Given the description of an element on the screen output the (x, y) to click on. 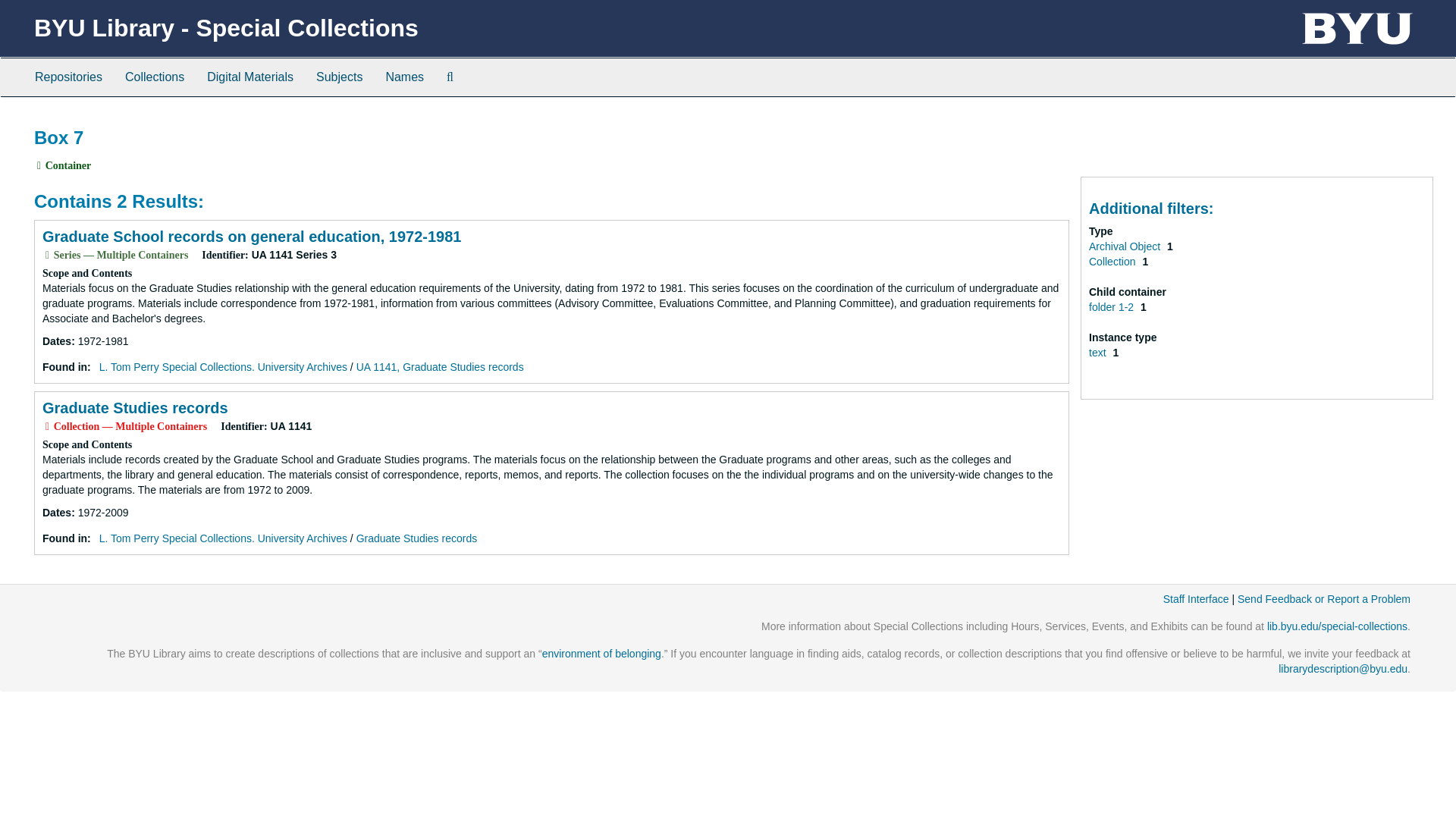
environment of belonging (601, 653)
Send Feedback or Report a Problem (1323, 598)
translation missing: en.dates (56, 340)
Collections (154, 77)
folder 1-2 (1113, 306)
Staff Interface (1195, 598)
BYU Library - Special Collections (226, 27)
Return to the homepage (226, 27)
Page Actions (1139, 120)
Filter By 'text' (1098, 352)
Digital Materials (249, 77)
L. Tom Perry Special Collections. University Archives (223, 367)
Graduate School records on general education, 1972-1981 (251, 236)
text (1098, 352)
Repositories (68, 77)
